Given the description of an element on the screen output the (x, y) to click on. 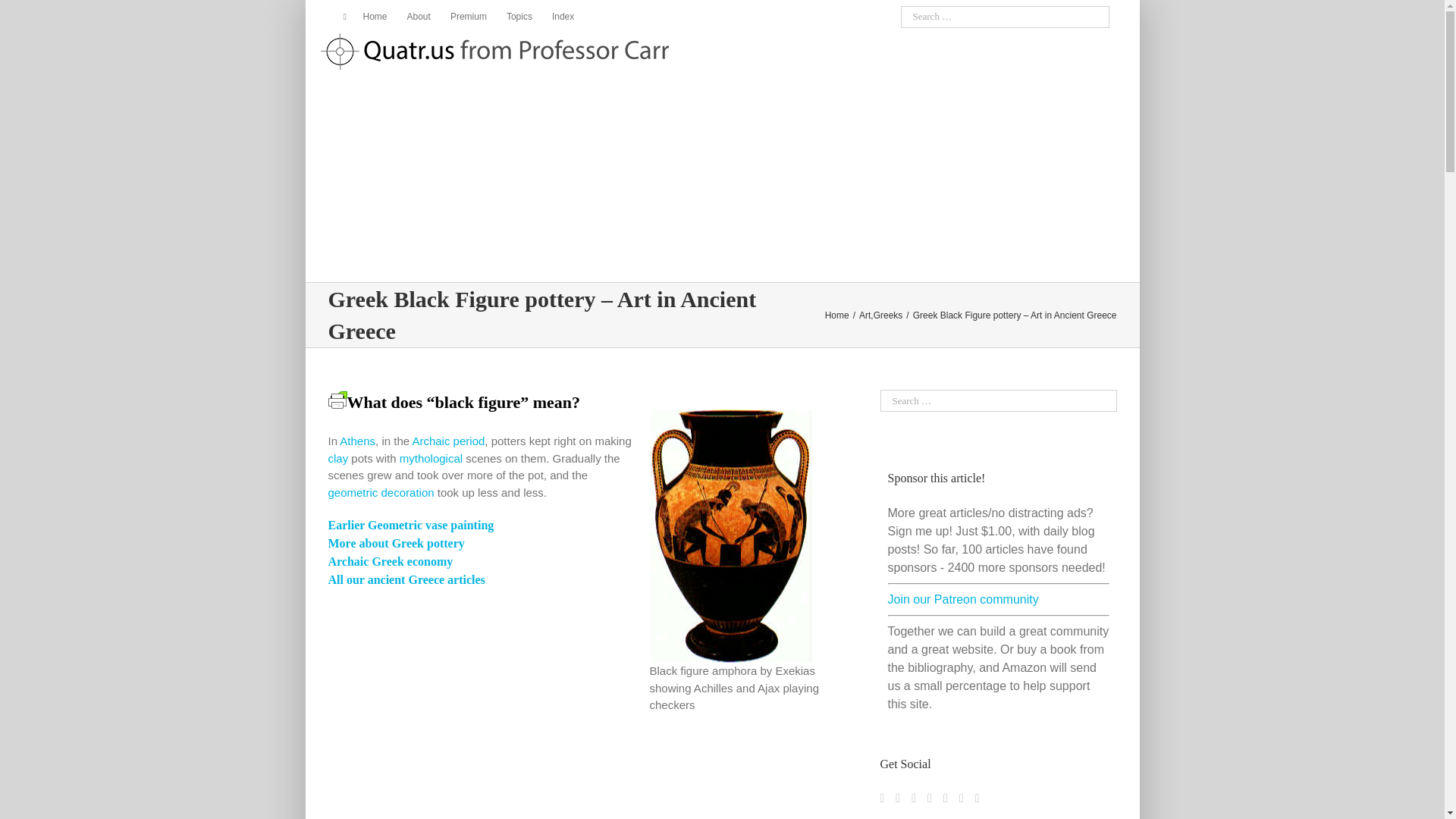
Index (562, 16)
Home (369, 16)
About (419, 16)
Search for: (1005, 16)
Topics (518, 16)
Premium (468, 16)
Advertisement (572, 774)
